Given the description of an element on the screen output the (x, y) to click on. 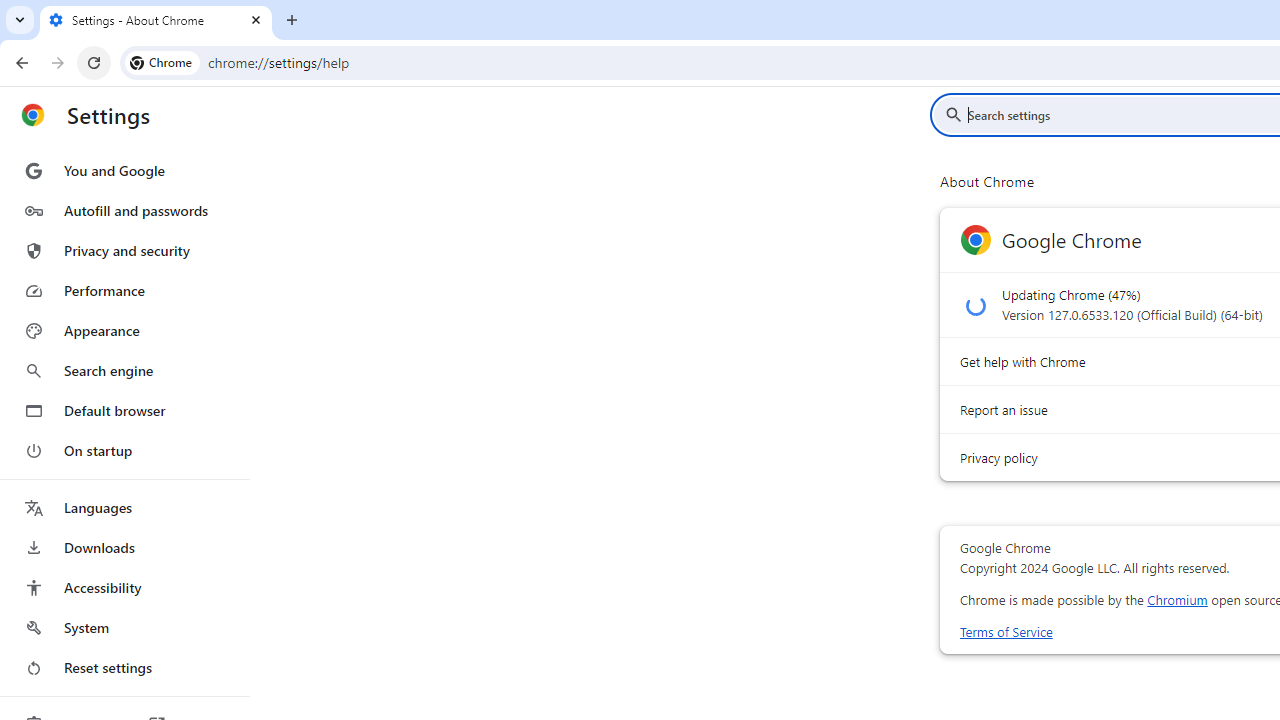
Search engine (124, 370)
On startup (124, 450)
Privacy and security (124, 250)
Downloads (124, 547)
Settings - About Chrome (156, 20)
Performance (124, 290)
Chromium (1177, 600)
Languages (124, 507)
